Given the description of an element on the screen output the (x, y) to click on. 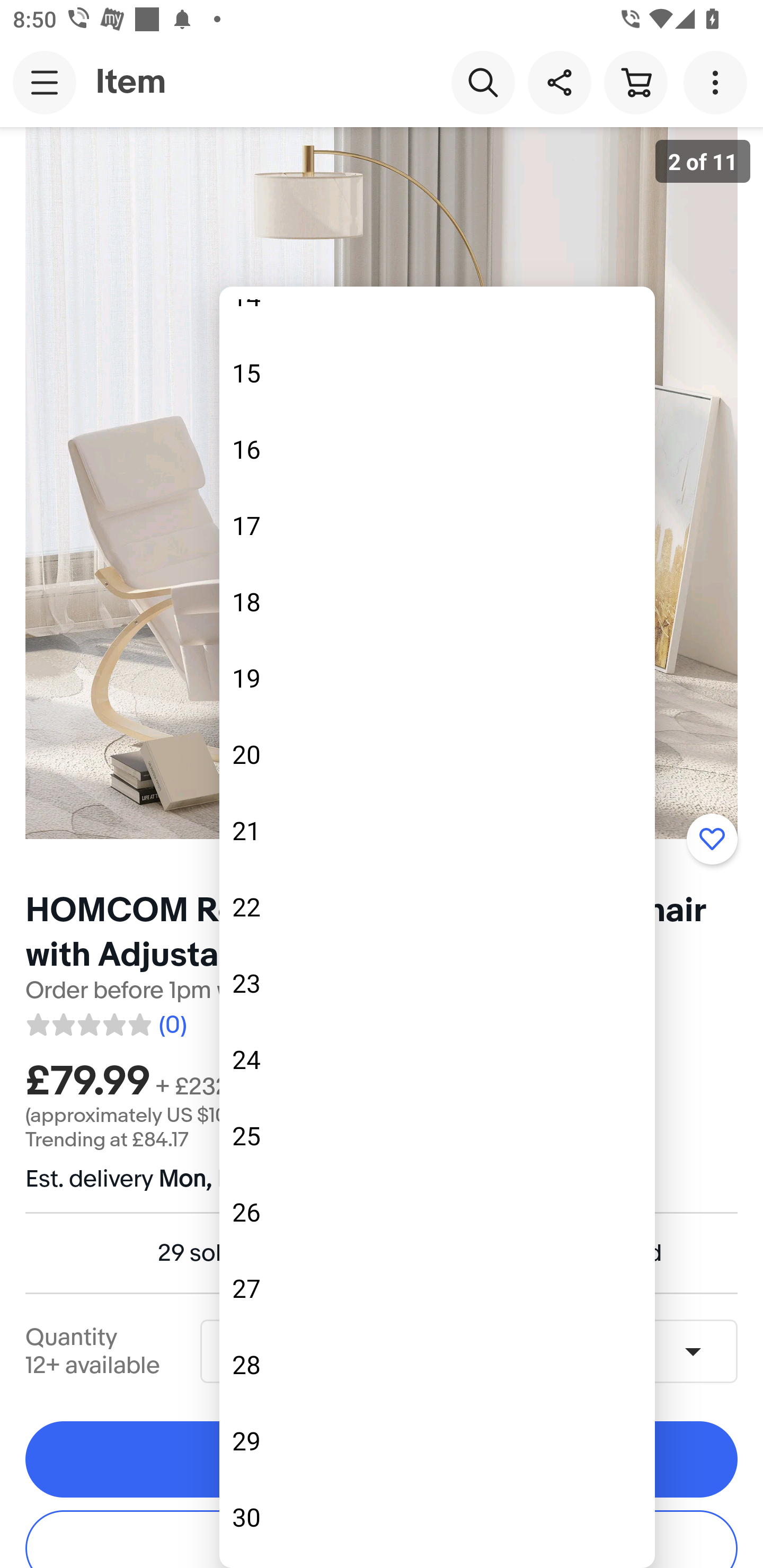
15 (436, 372)
16 (436, 448)
17 (436, 524)
18 (436, 600)
19 (436, 677)
20 (436, 753)
21 (436, 829)
22 (436, 906)
23 (436, 982)
24 (436, 1058)
25 (436, 1135)
26 (436, 1211)
27 (436, 1287)
28 (436, 1364)
29 (436, 1440)
30 (436, 1516)
